Given the description of an element on the screen output the (x, y) to click on. 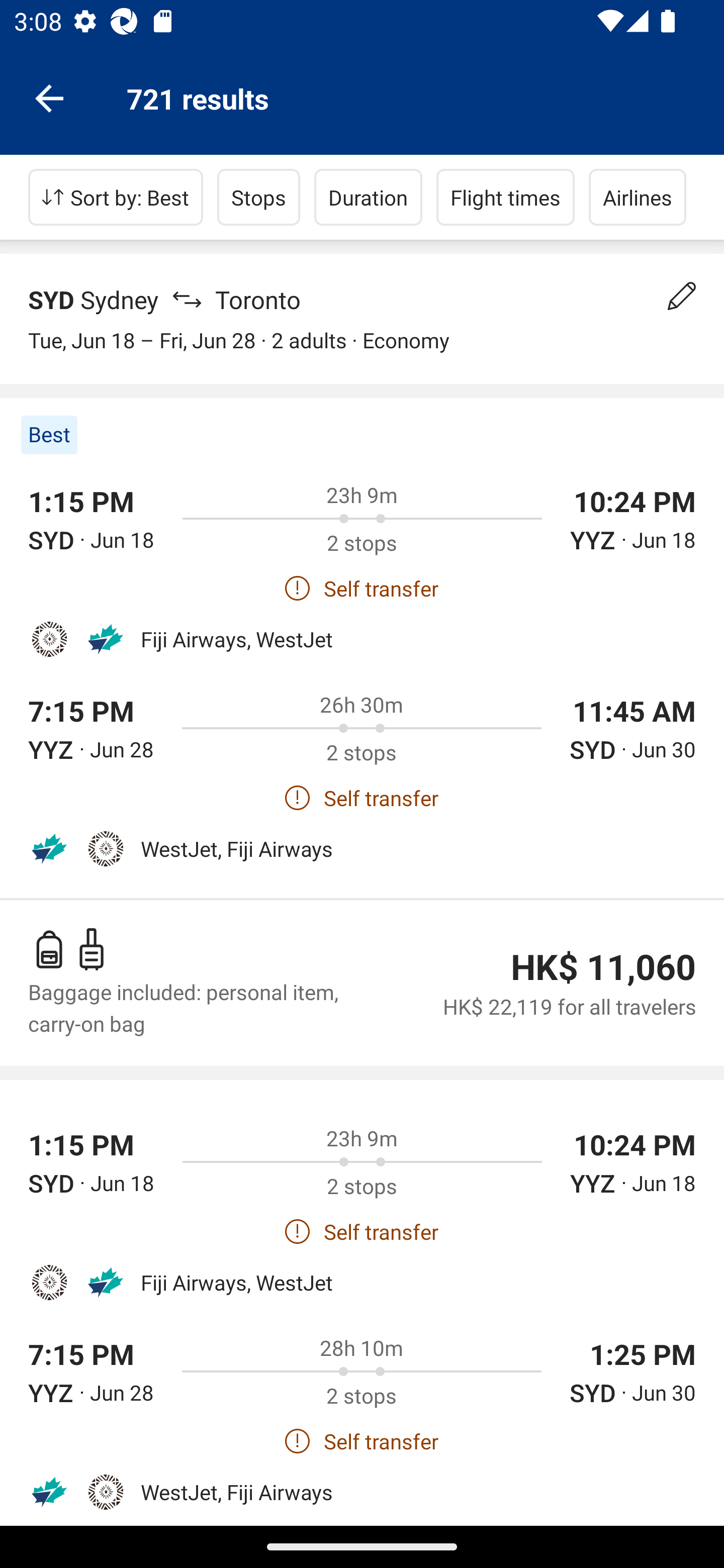
Navigate up (49, 97)
Sort by: Best (115, 197)
Stops (258, 197)
Duration (368, 197)
Flight times (505, 197)
Airlines (637, 197)
Change your search details (681, 296)
HK$ 11,060 (603, 967)
